Given the description of an element on the screen output the (x, y) to click on. 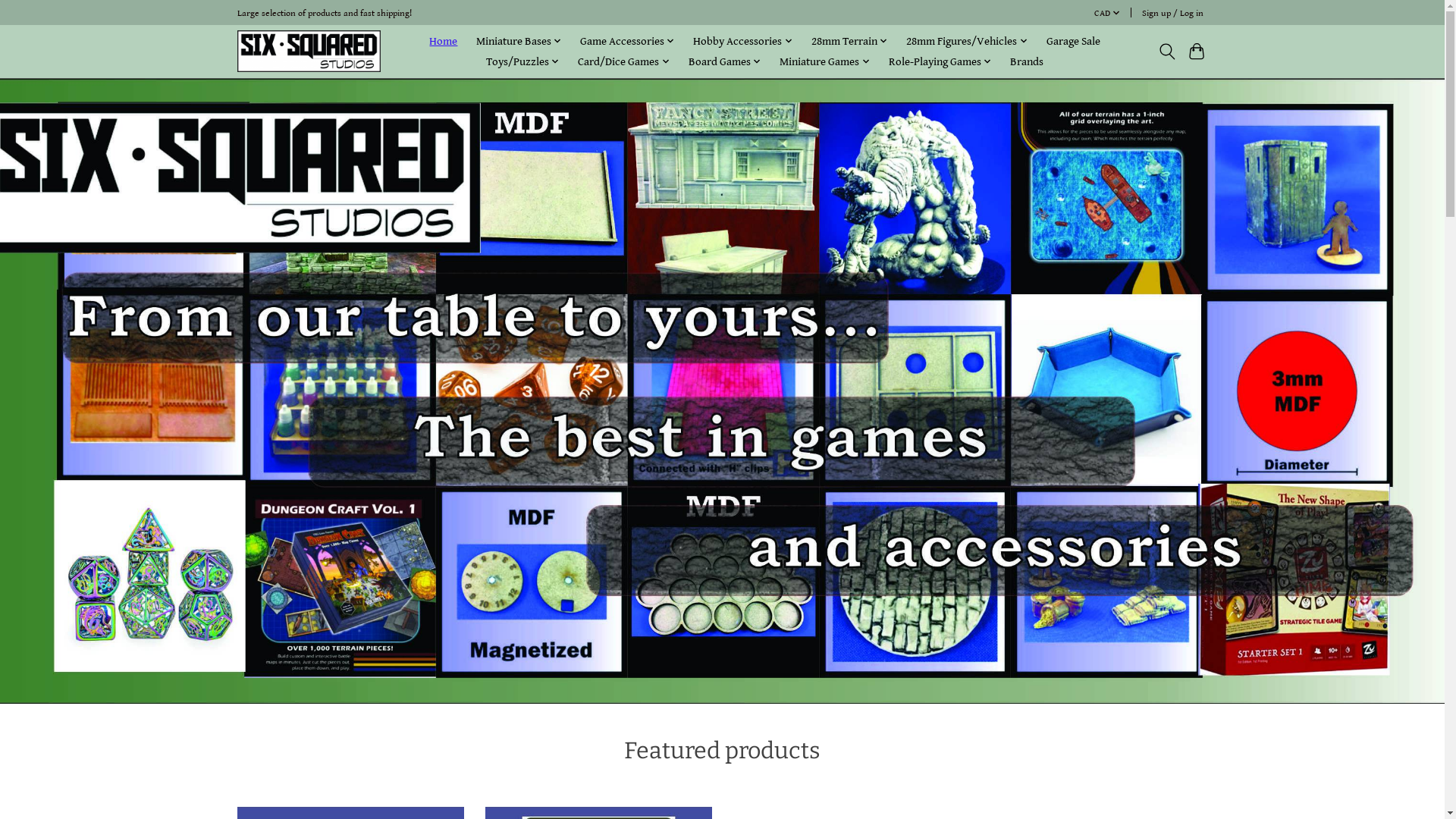
Sign up / Log in Element type: text (1172, 12)
6 Squared Studios Element type: hover (308, 51)
CAD Element type: text (1106, 12)
Garage Sale Element type: text (1073, 41)
Miniature Games Element type: text (824, 61)
28mm Terrain Element type: text (850, 41)
Brands Element type: text (1026, 61)
Hobby Accessories Element type: text (742, 41)
28mm Figures/Vehicles Element type: text (966, 41)
Role-Playing Games Element type: text (940, 61)
Board Games Element type: text (725, 61)
Card/Dice Games Element type: text (623, 61)
Game Accessories Element type: text (627, 41)
Home Element type: text (442, 41)
Toys/Puzzles Element type: text (522, 61)
Miniature Bases Element type: text (518, 41)
